Given the description of an element on the screen output the (x, y) to click on. 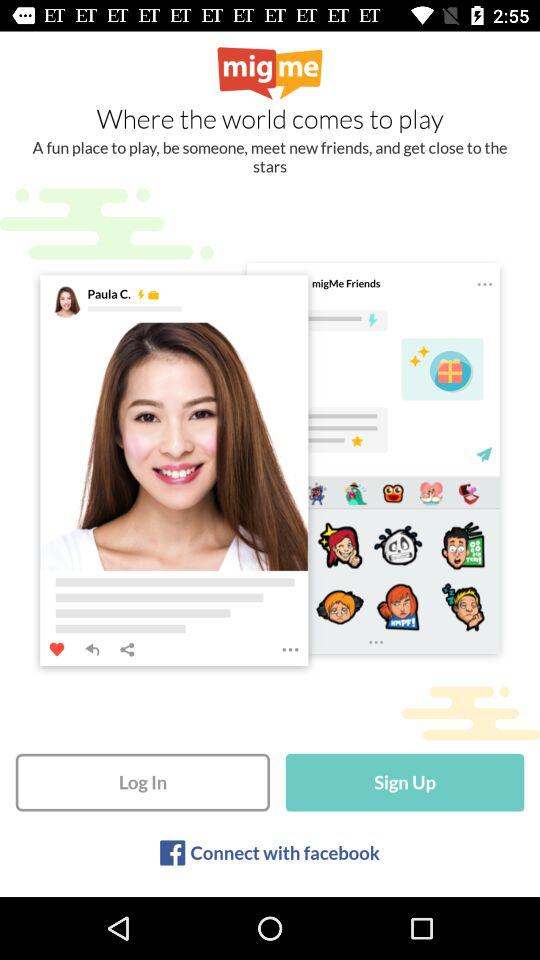
choose item to the left of sign up icon (142, 782)
